Given the description of an element on the screen output the (x, y) to click on. 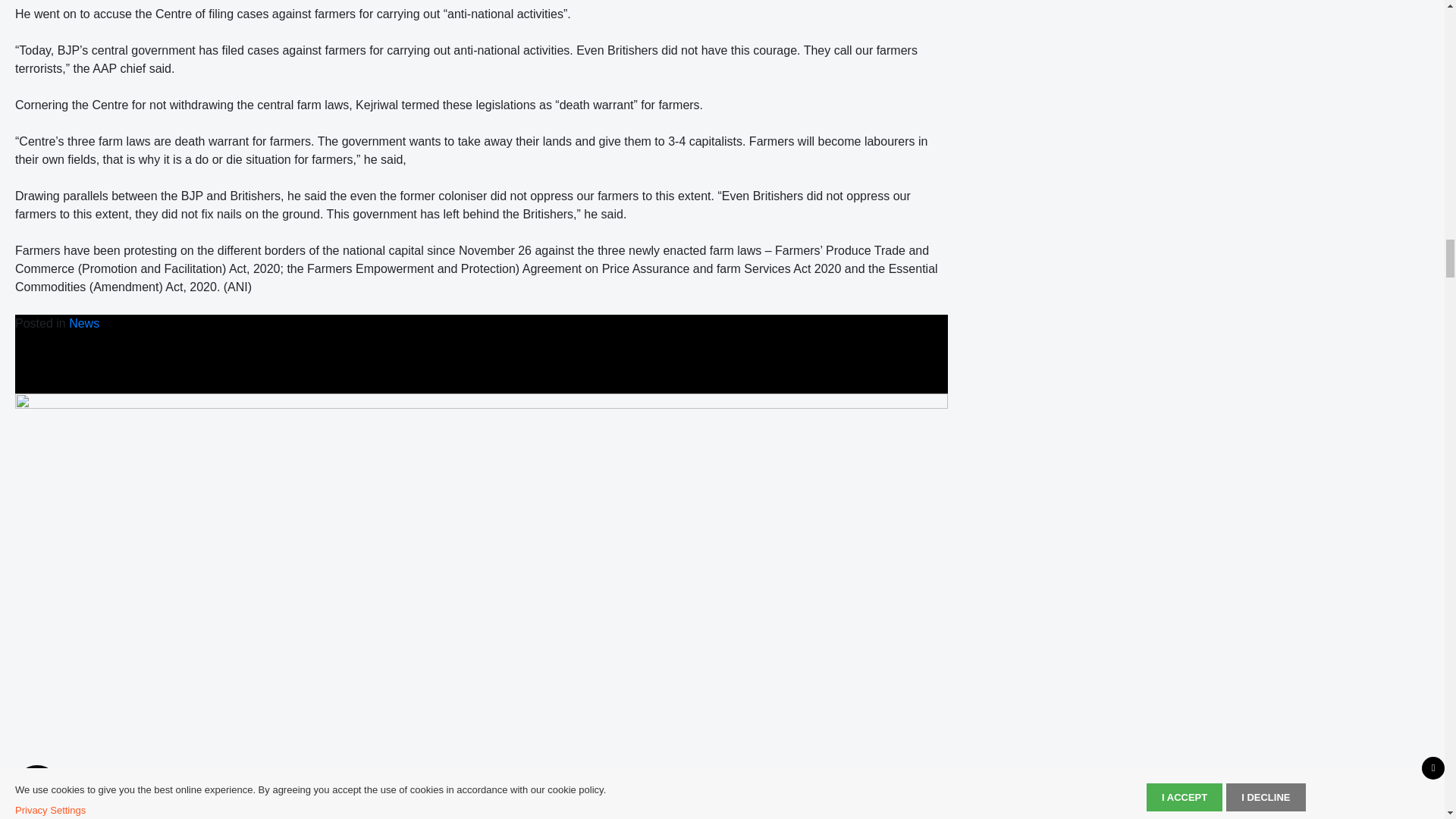
News (83, 323)
